Given the description of an element on the screen output the (x, y) to click on. 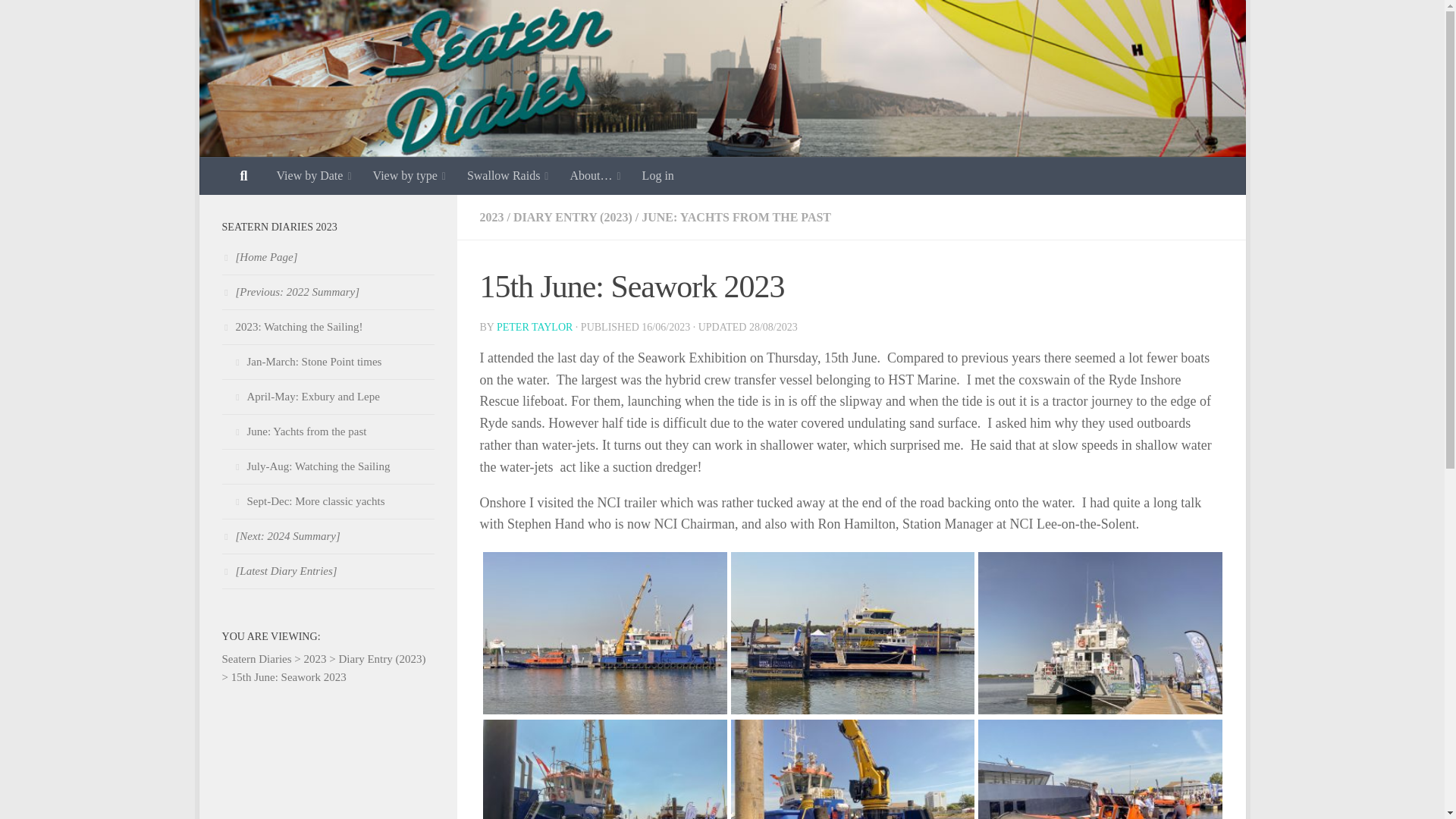
Go to Seatern Diaries. (256, 658)
Below content (255, 20)
View by Date (312, 175)
Posts by Peter Taylor (534, 326)
Go to the 2023 Category archives. (315, 658)
